Given the description of an element on the screen output the (x, y) to click on. 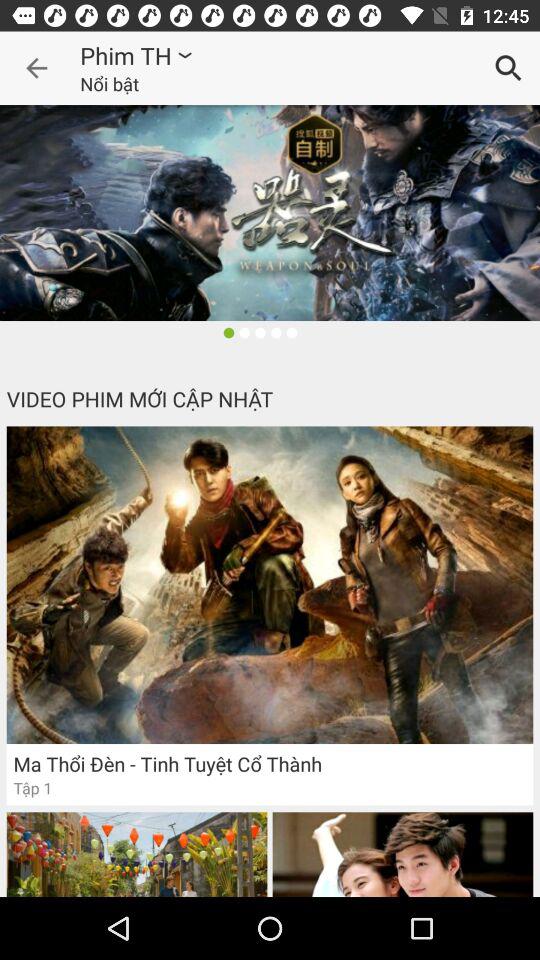
turn on the item at the top right corner (508, 67)
